Given the description of an element on the screen output the (x, y) to click on. 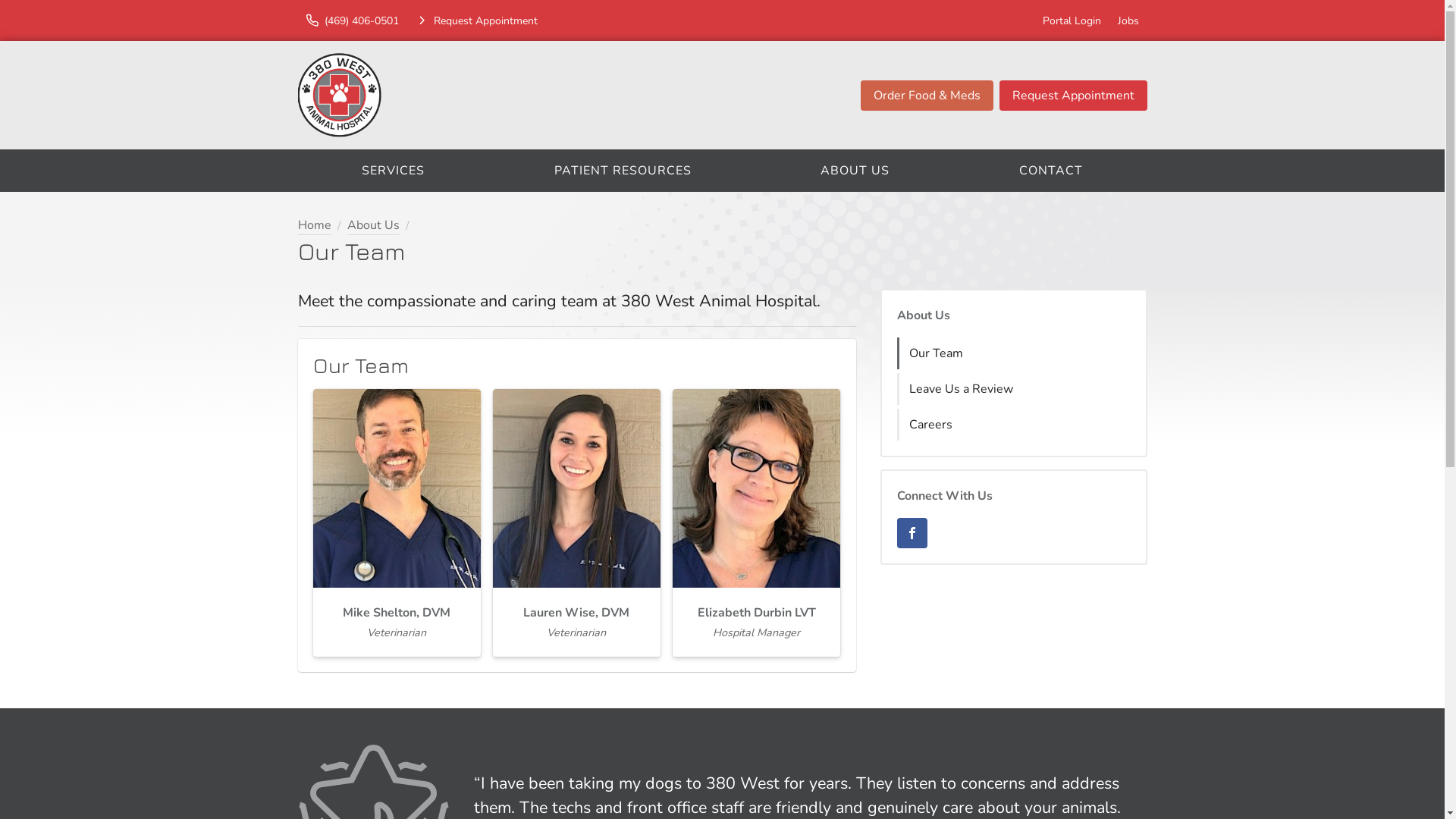
Portal Login Element type: text (1071, 20)
Jobs Element type: text (1128, 20)
About Us Element type: text (373, 225)
CONTACT Element type: text (1050, 170)
About Us Element type: text (922, 315)
Elizabeth Durbin LVT
Hospital Manager Element type: text (756, 522)
PATIENT RESOURCES Element type: text (622, 170)
Home Element type: text (313, 225)
Our Team Element type: text (1014, 353)
SERVICES Element type: text (393, 170)
(469) 406-0501 Element type: text (351, 20)
ABOUT US Element type: text (855, 170)
Facebook Element type: hover (911, 532)
Lauren Wise, DVM
Veterinarian Element type: text (576, 522)
Order Food & Meds Element type: text (925, 95)
Careers Element type: text (1014, 424)
Request Appointment Element type: text (1073, 95)
Mike Shelton, DVM
Veterinarian Element type: text (396, 522)
Request Appointment Element type: text (476, 20)
Leave Us a Review Element type: text (1014, 388)
